Given the description of an element on the screen output the (x, y) to click on. 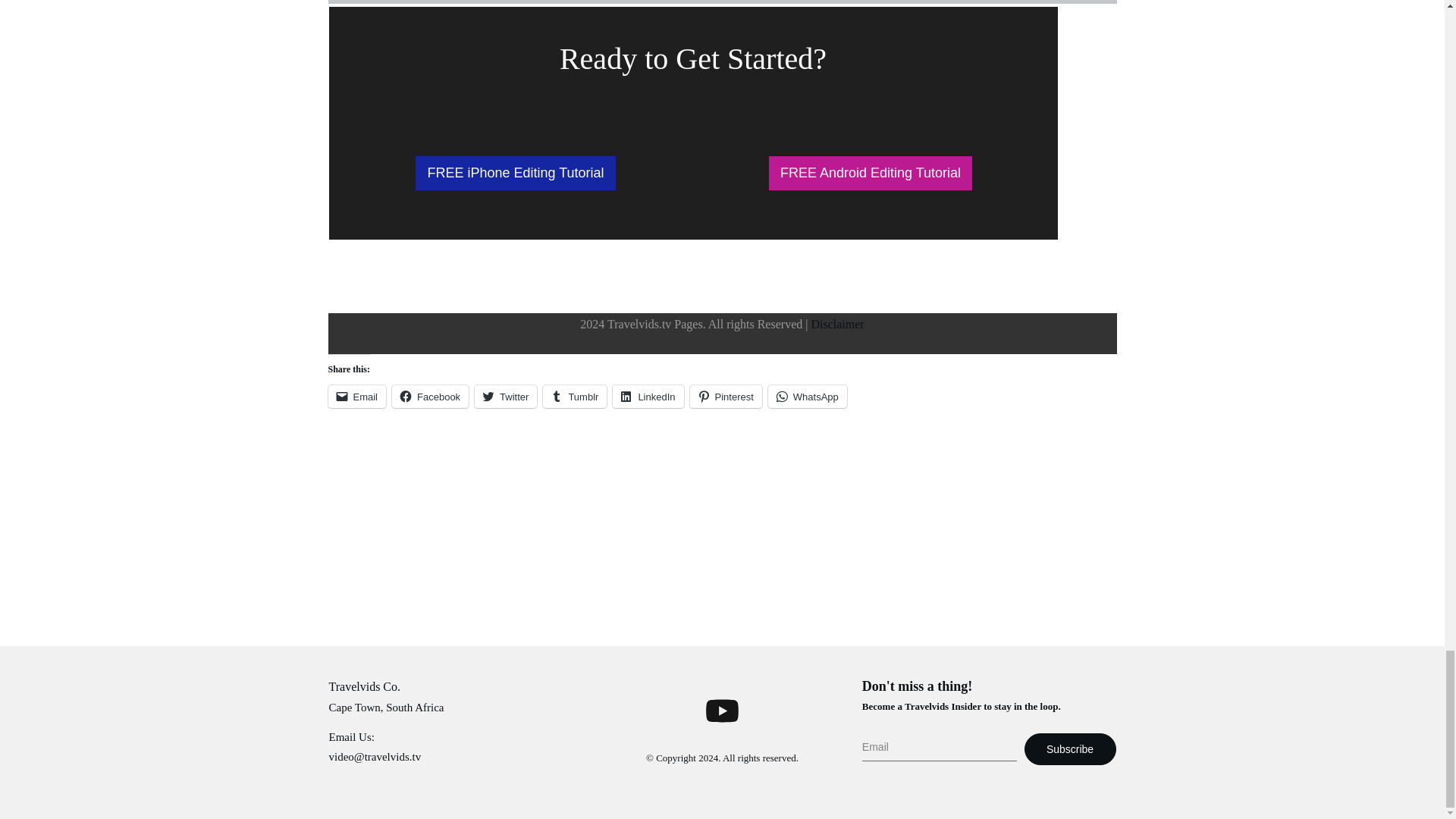
Click to share on Facebook (429, 395)
FREE Android Editing Tutorial (870, 173)
Facebook (429, 395)
Click to share on Twitter (505, 395)
Tumblr (575, 395)
Pinterest (725, 395)
Click to email a link to a friend (356, 395)
Subscribe (1070, 748)
Twitter (505, 395)
LinkedIn (647, 395)
